Given the description of an element on the screen output the (x, y) to click on. 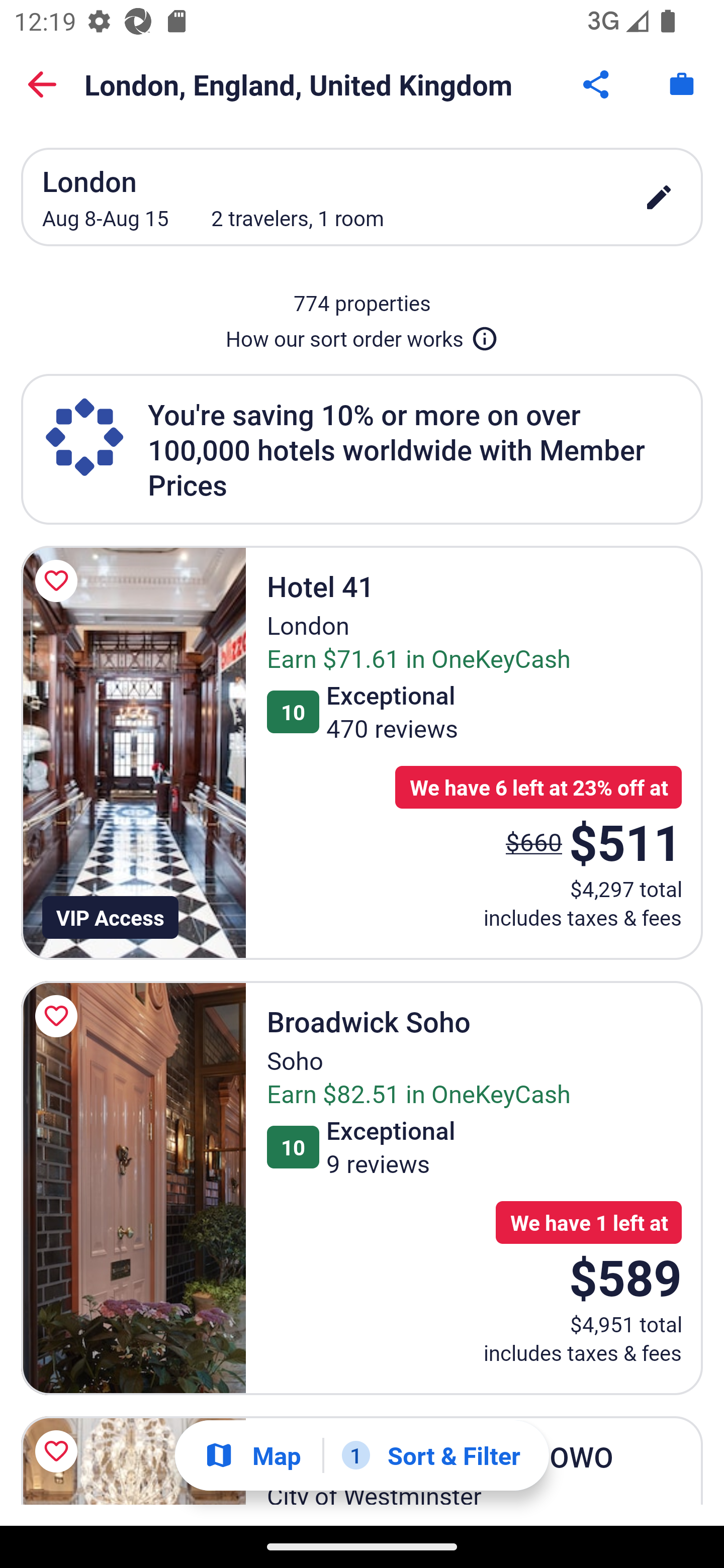
Back (42, 84)
Share Button (597, 84)
Trips. Button (681, 84)
London Aug 8-Aug 15 2 travelers, 1 room edit (361, 196)
How our sort order works (361, 334)
Save Hotel 41 to a trip (59, 580)
Hotel 41 (133, 752)
$660 The price was $660 (533, 841)
Save Broadwick Soho to a trip (59, 1015)
Broadwick Soho (133, 1188)
Save Raffles London at The OWO to a trip (59, 1451)
1 Sort & Filter 1 Filter applied. Filters Button (430, 1455)
Show map Map Show map Button (252, 1455)
